Given the description of an element on the screen output the (x, y) to click on. 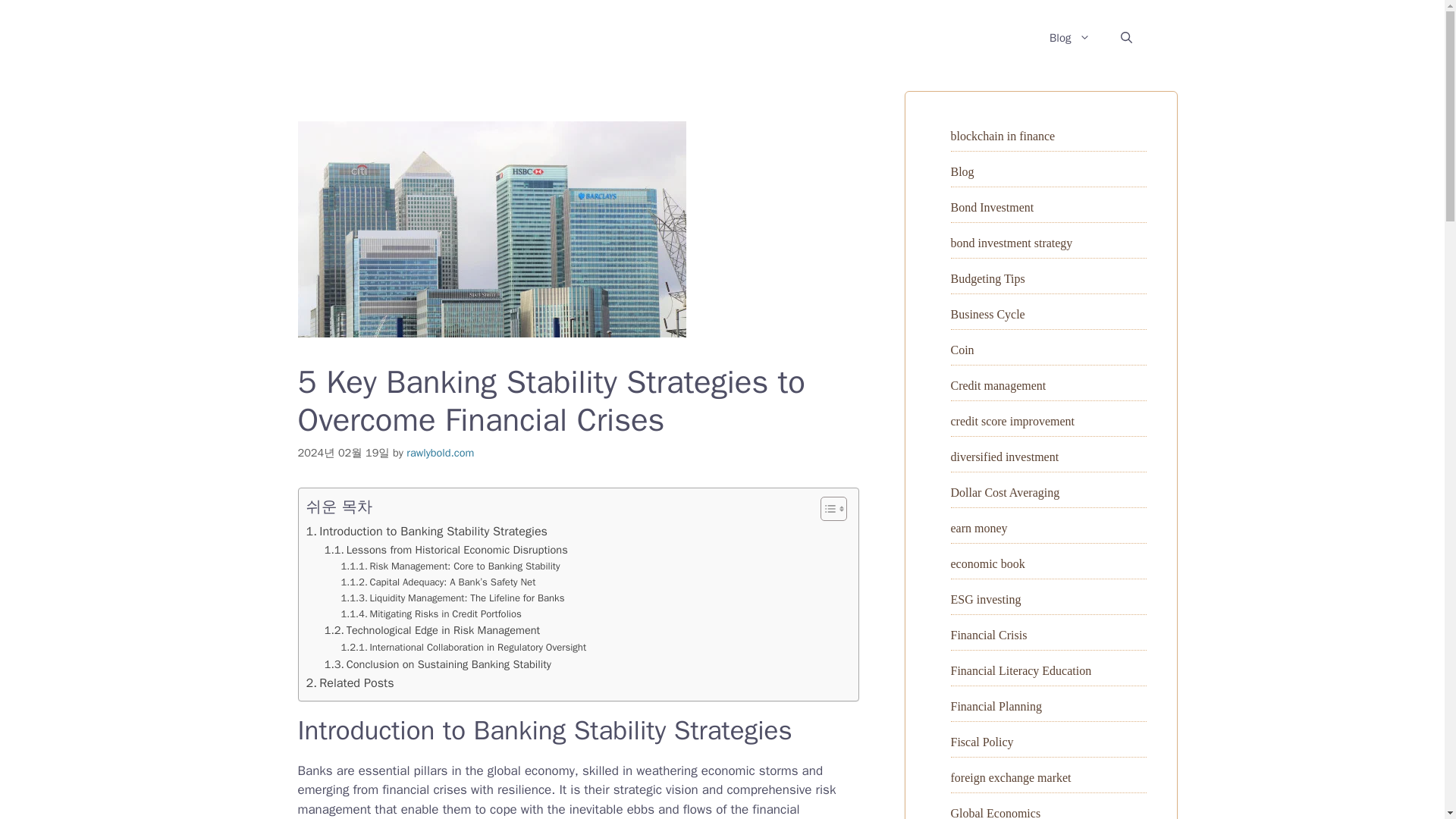
Introduction to Banking Stability Strategies (426, 531)
Mitigating Risks in Credit Portfolios (430, 614)
Bond Investment (991, 206)
International Collaboration in Regulatory Oversight (463, 647)
Mitigating Risks in Credit Portfolios (430, 614)
Budgeting Tips (987, 278)
The secret of financial technology (436, 37)
Conclusion on Sustaining Banking Stability (437, 664)
Risk Management: Core to Banking Stability (450, 566)
Risk Management: Core to Banking Stability (450, 566)
Related Posts (349, 682)
Related Posts (349, 682)
View all posts by rawlybold.com (440, 452)
International Collaboration in Regulatory Oversight (463, 647)
Technological Edge in Risk Management (432, 630)
